Given the description of an element on the screen output the (x, y) to click on. 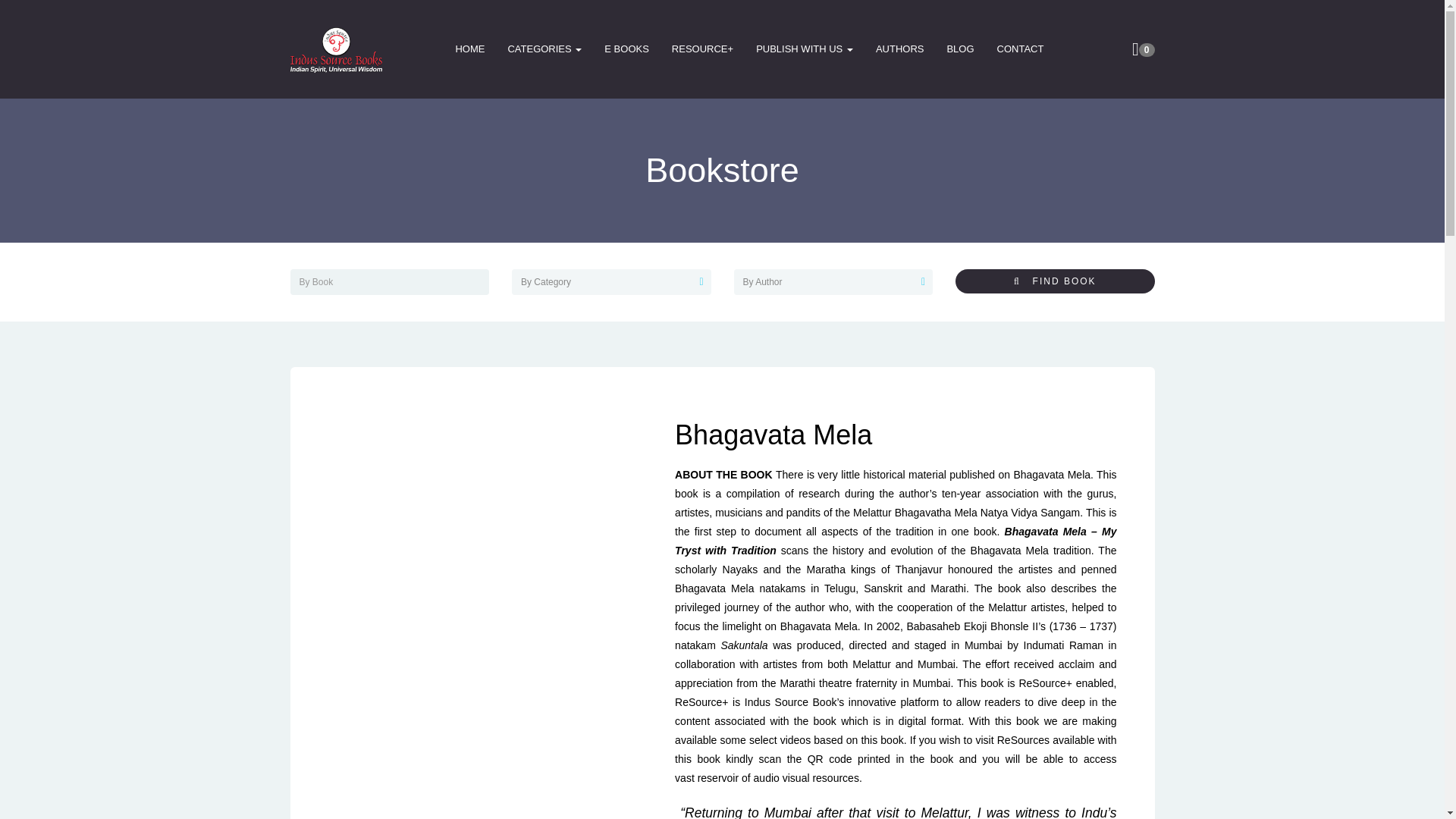
E BOOKS (626, 49)
BLOG (959, 49)
CONTACT (1020, 49)
PUBLISH WITH US (804, 49)
  FIND BOOK (1054, 281)
CATEGORIES (544, 49)
Categories (544, 49)
HOME (470, 49)
Home (470, 49)
AUTHORS (900, 49)
